Given the description of an element on the screen output the (x, y) to click on. 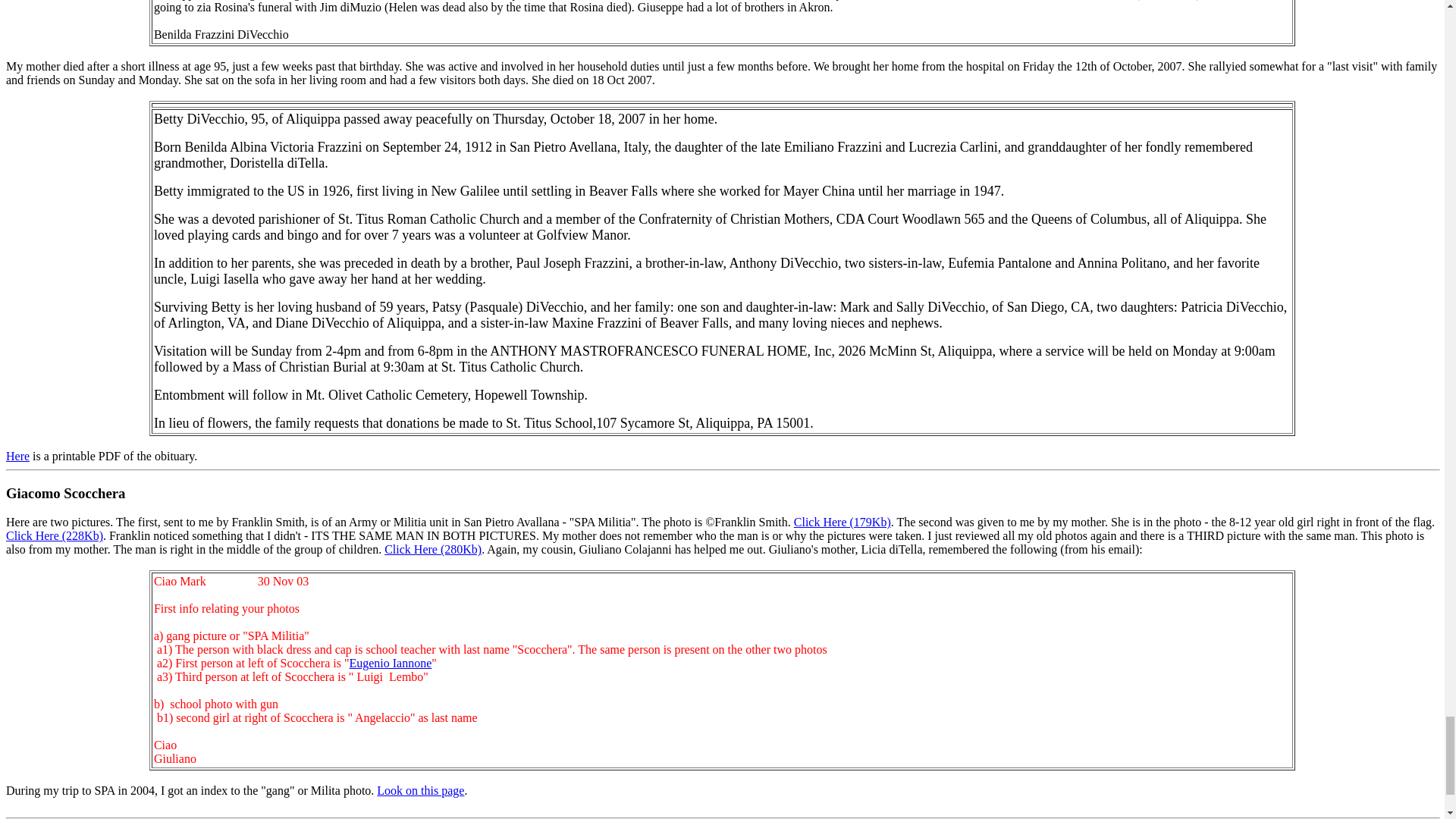
Here (17, 455)
Eugenio Iannone (389, 662)
Look on this page (420, 789)
